Given the description of an element on the screen output the (x, y) to click on. 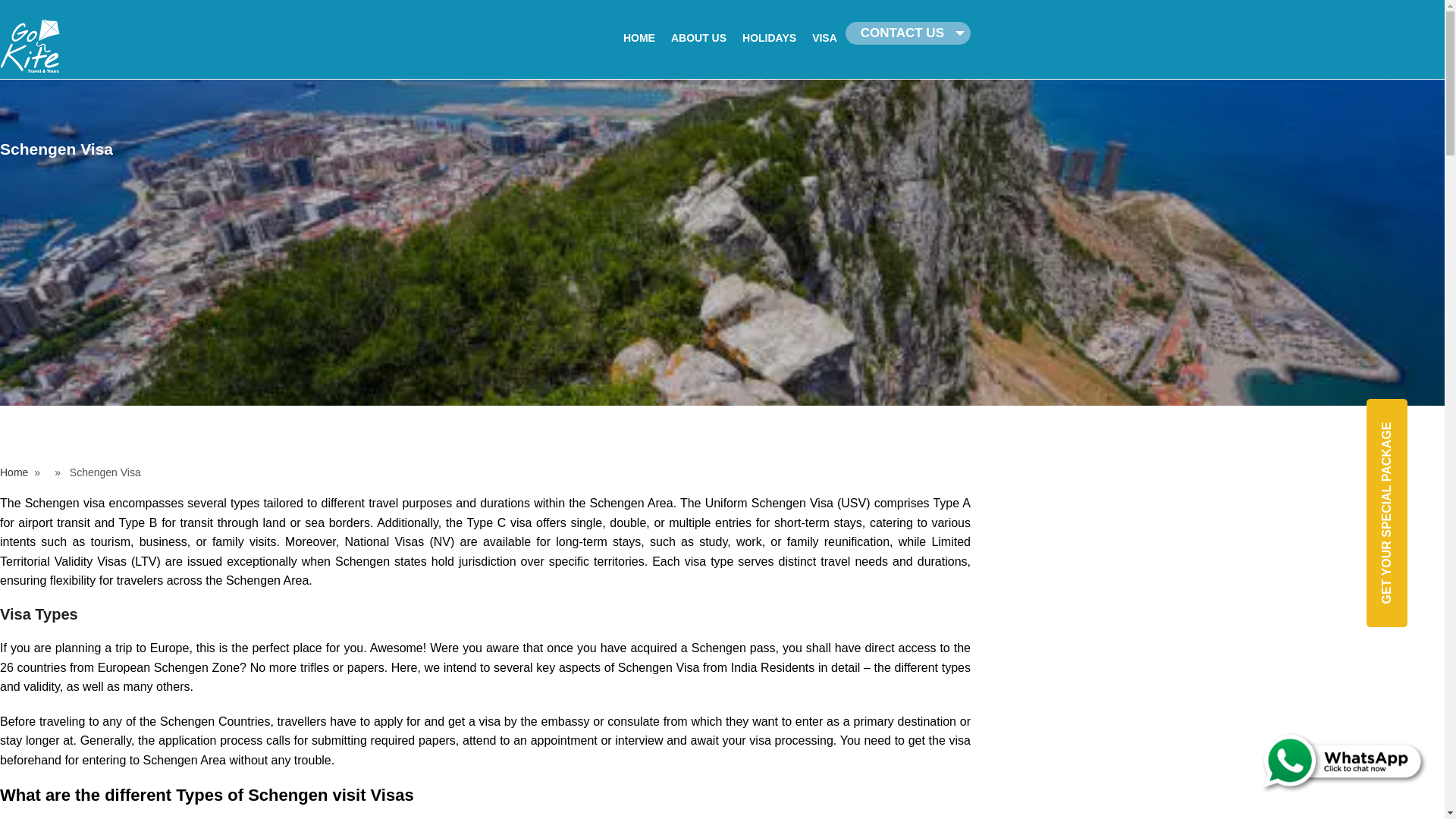
HOLIDAYS (769, 37)
Home (13, 472)
VISA (824, 37)
CONTACT US (901, 32)
Send whatsApp message (1315, 763)
ABOUT US (698, 37)
HOME (638, 37)
